Given the description of an element on the screen output the (x, y) to click on. 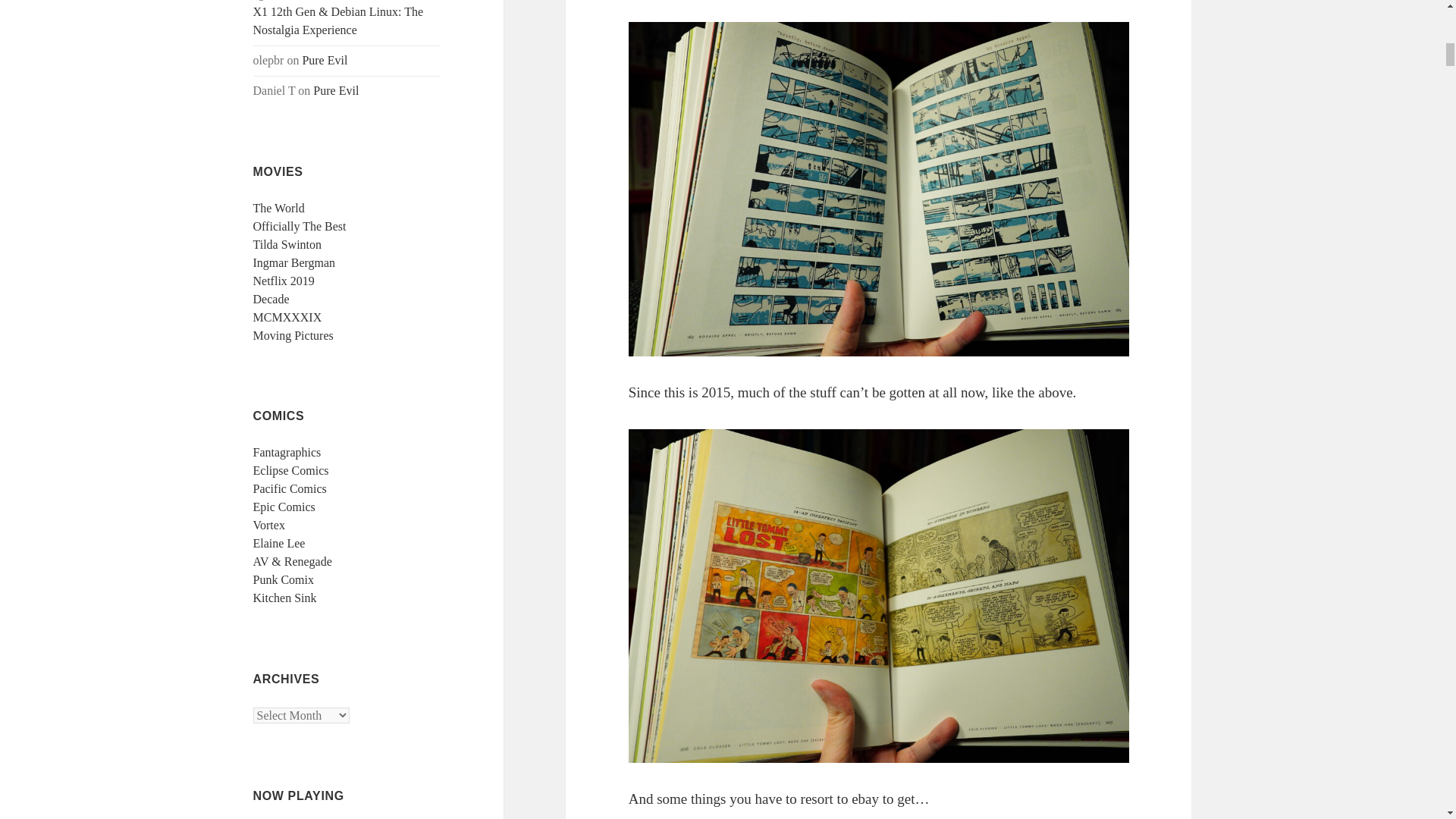
The World (278, 207)
Vortex (269, 524)
Pure Evil (335, 90)
Eclipse Comics (291, 470)
Fantagraphics (287, 451)
Moving Pictures (293, 335)
Ingmar Bergman (294, 262)
Officially The Best (299, 226)
Epic Comics (284, 506)
MCMXXXIX (287, 317)
